Given the description of an element on the screen output the (x, y) to click on. 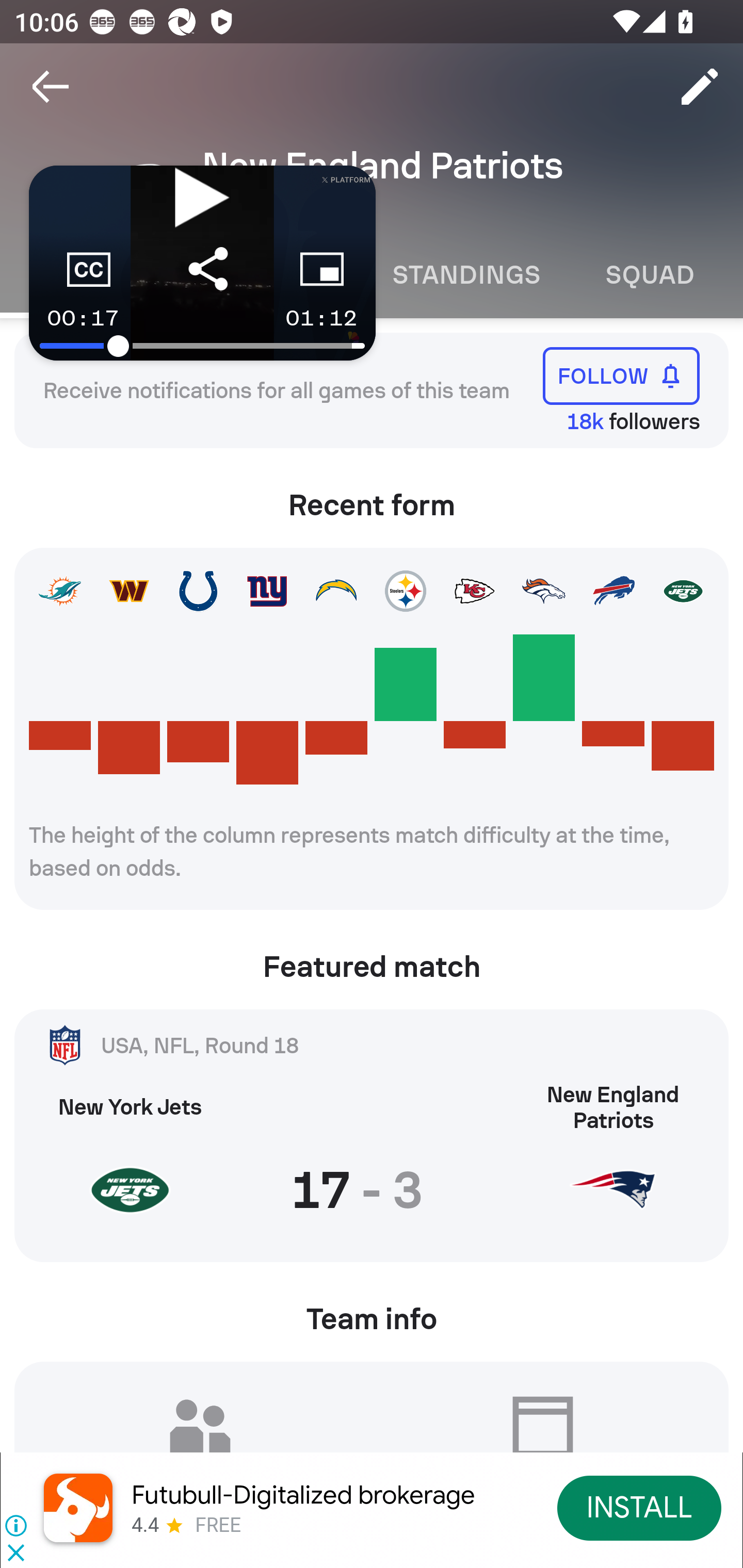
Navigate up (50, 86)
Edit (699, 86)
Standings STANDINGS (465, 275)
Squad SQUAD (650, 275)
FOLLOW (621, 375)
INSTALL (639, 1507)
Futubull-Digitalized brokerage (302, 1494)
